Given the description of an element on the screen output the (x, y) to click on. 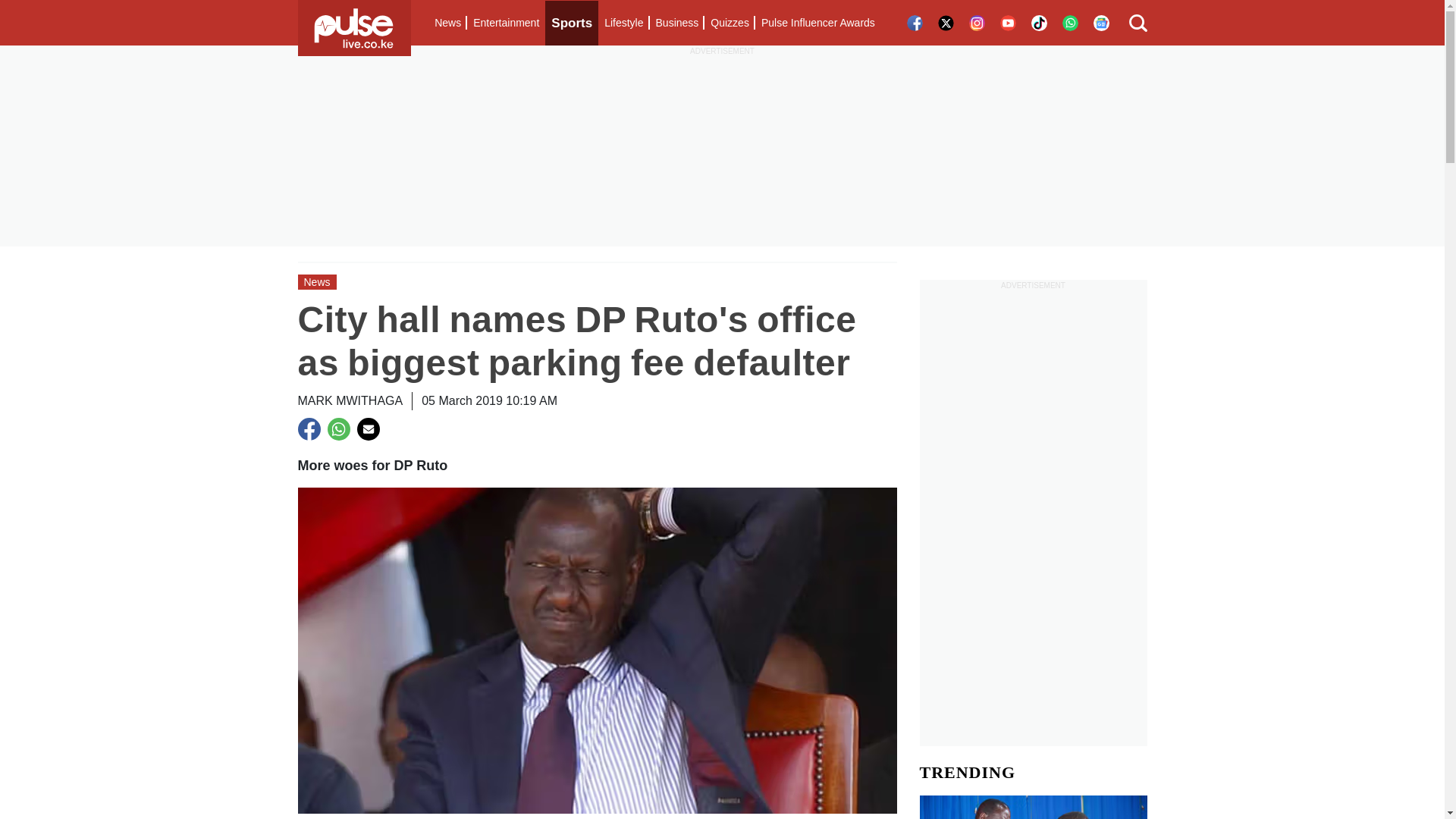
Sports (571, 22)
Lifestyle (623, 22)
Business (676, 22)
Pulse Influencer Awards (817, 22)
Entertainment (505, 22)
Quizzes (729, 22)
